Given the description of an element on the screen output the (x, y) to click on. 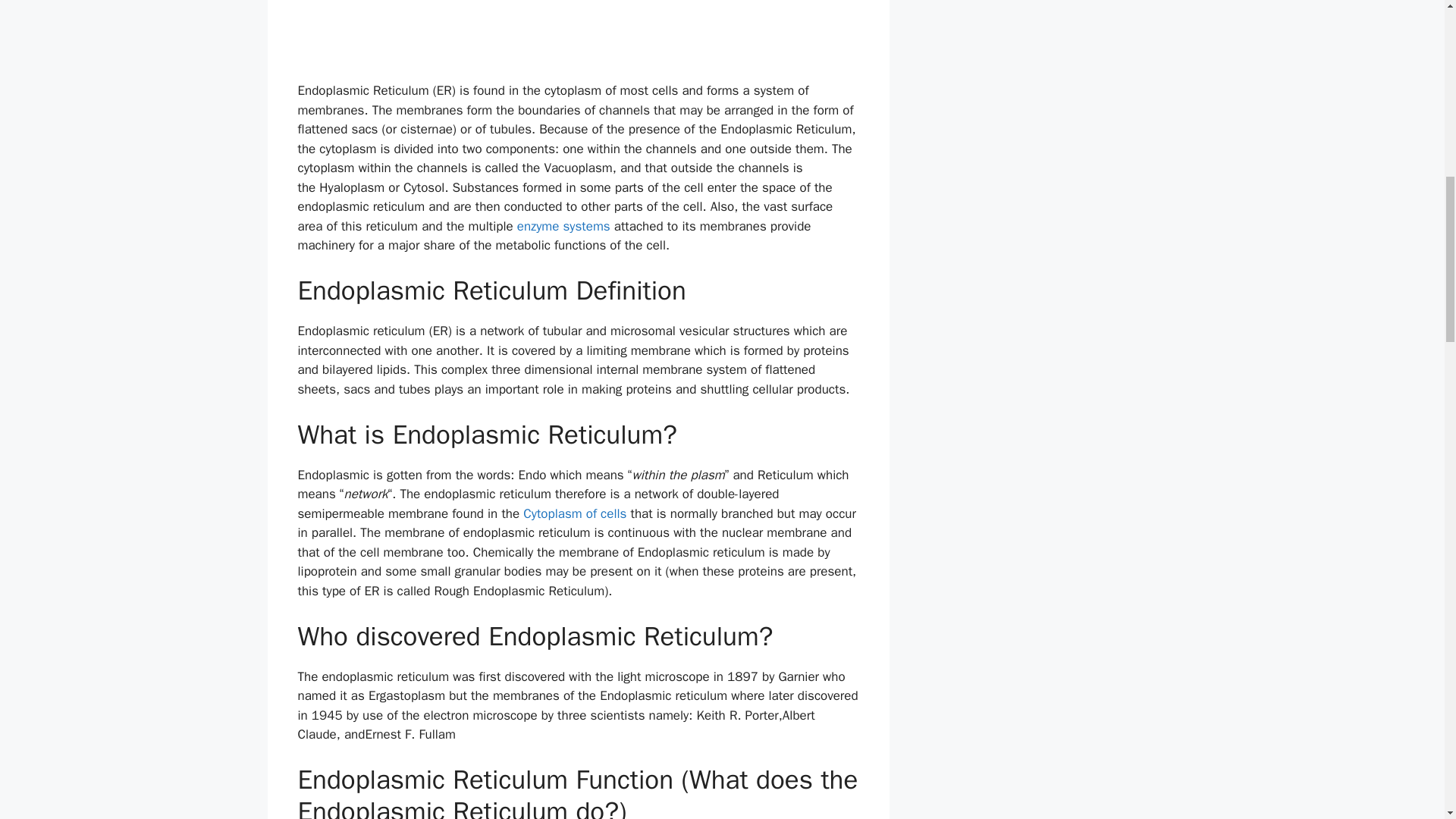
Scroll back to top (1406, 720)
enzyme systems (563, 226)
Cytoplasm of cells (574, 513)
